Given the description of an element on the screen output the (x, y) to click on. 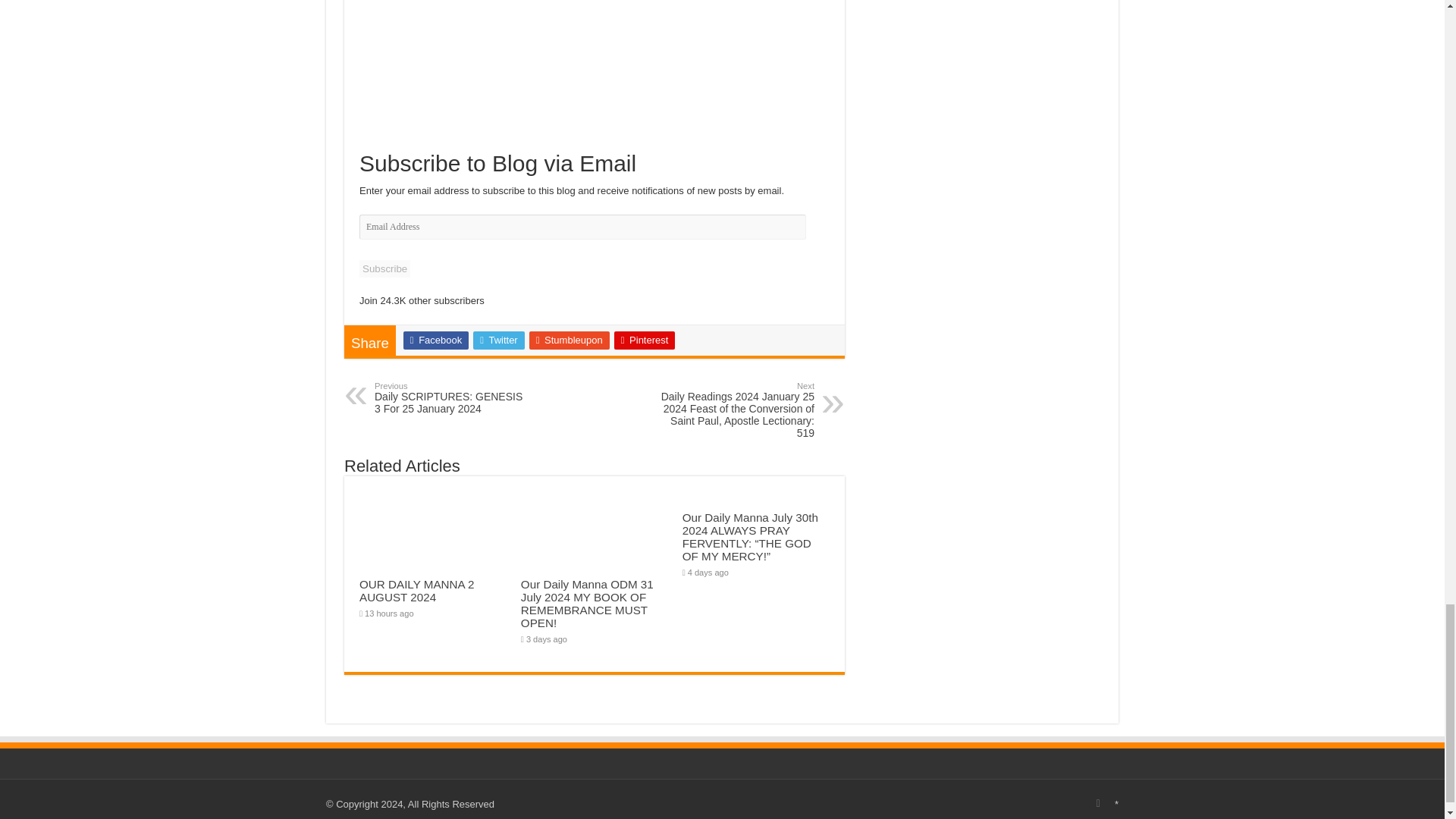
Stumbleupon (569, 340)
Facebook (435, 340)
Twitter (451, 397)
Subscribe (498, 340)
Pinterest (384, 268)
